Given the description of an element on the screen output the (x, y) to click on. 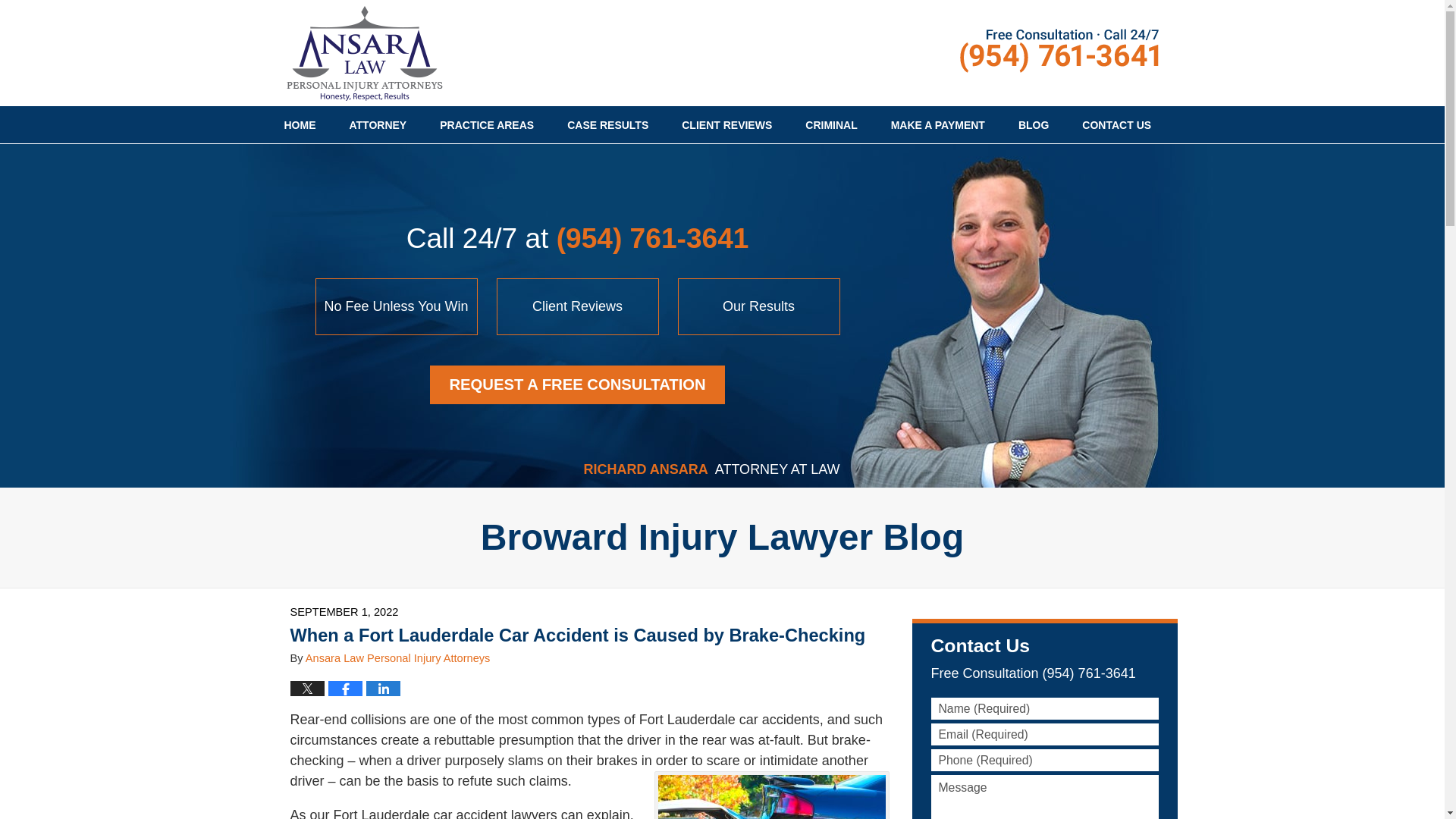
Broward Injury Lawyer Blog (722, 537)
Client Reviews (577, 306)
Published By Ansara Law Personal Injury Attorneys (1058, 50)
Please enter a valid phone number. (1044, 760)
CRIMINAL (831, 125)
BLOG (1033, 125)
CONTACT US (1116, 125)
Broward Injury Lawyer Blog (364, 52)
MAKE A PAYMENT (938, 125)
REQUEST A FREE CONSULTATION (577, 384)
